Given the description of an element on the screen output the (x, y) to click on. 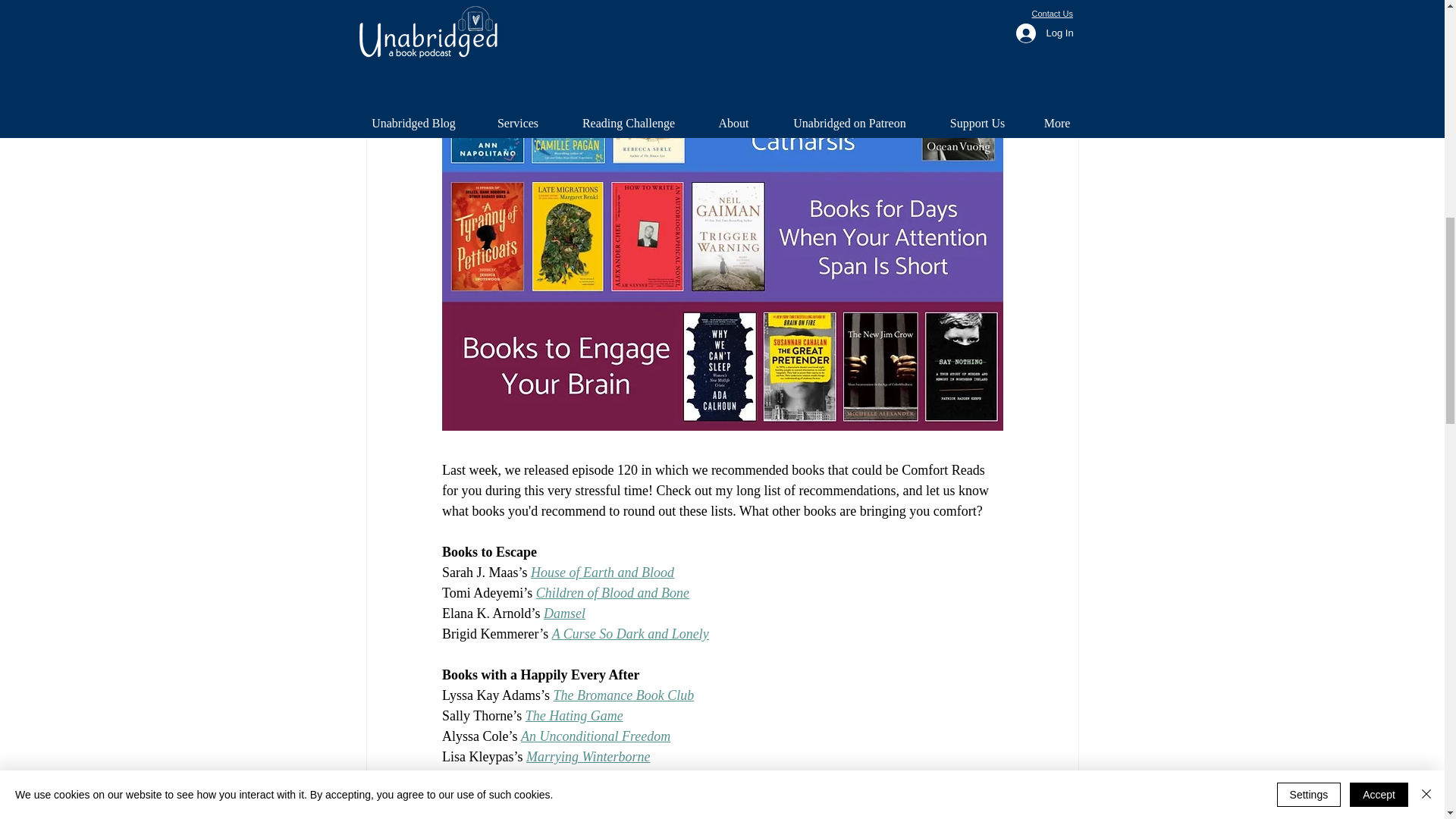
A Curse So Dark and Lonely (629, 633)
Damsel (564, 613)
Children of Blood and Bone (611, 592)
House of Earth and Blood (600, 572)
The Bromance Book Club (623, 694)
